Given the description of an element on the screen output the (x, y) to click on. 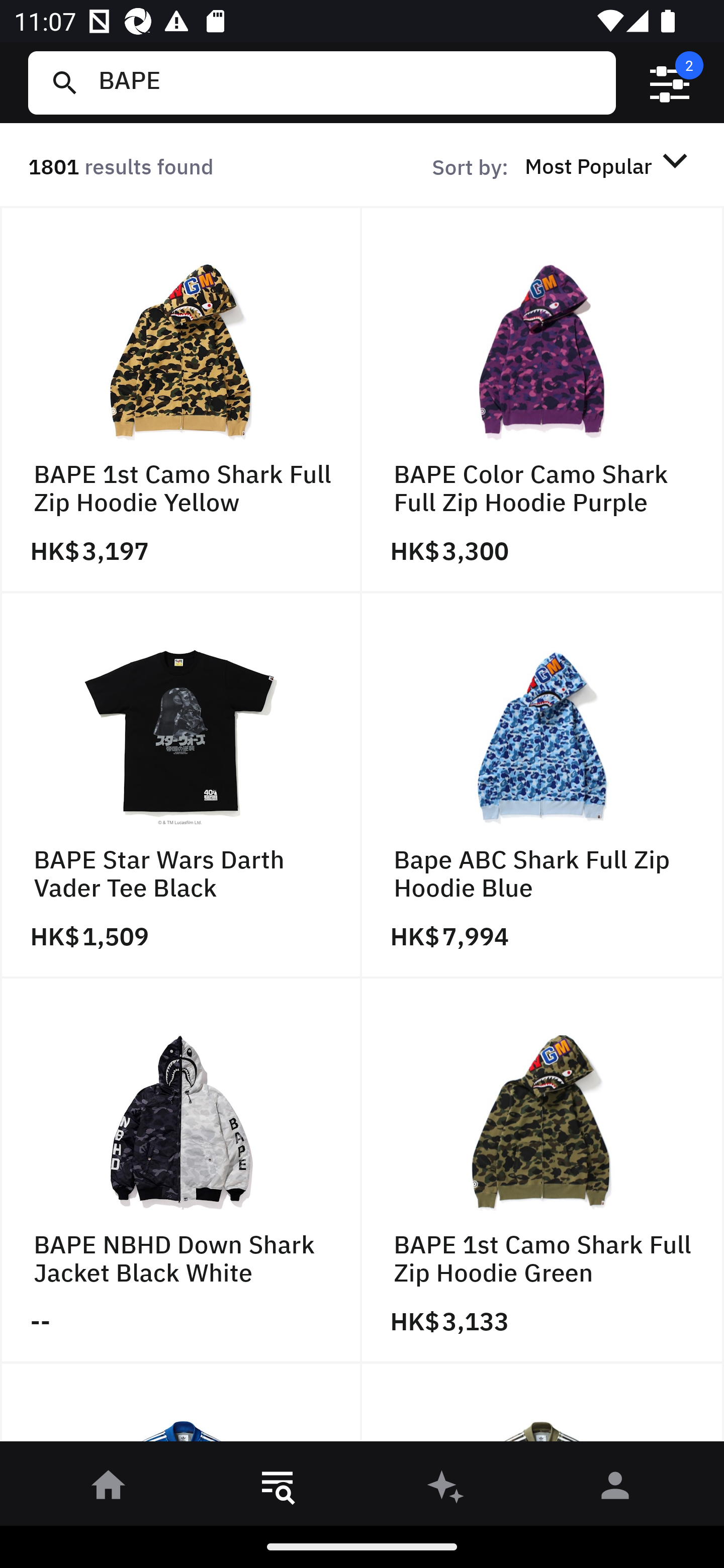
BAPE (349, 82)
 (669, 82)
Most Popular  (609, 165)
BAPE Star Wars Darth Vader Tee Black HK$ 1,509 (181, 785)
Bape ABC Shark Full Zip Hoodie Blue HK$ 7,994 (543, 785)
BAPE NBHD Down Shark Jacket Black White -- (181, 1171)
󰋜 (108, 1488)
󱎸 (277, 1488)
󰫢 (446, 1488)
󰀄 (615, 1488)
